Given the description of an element on the screen output the (x, y) to click on. 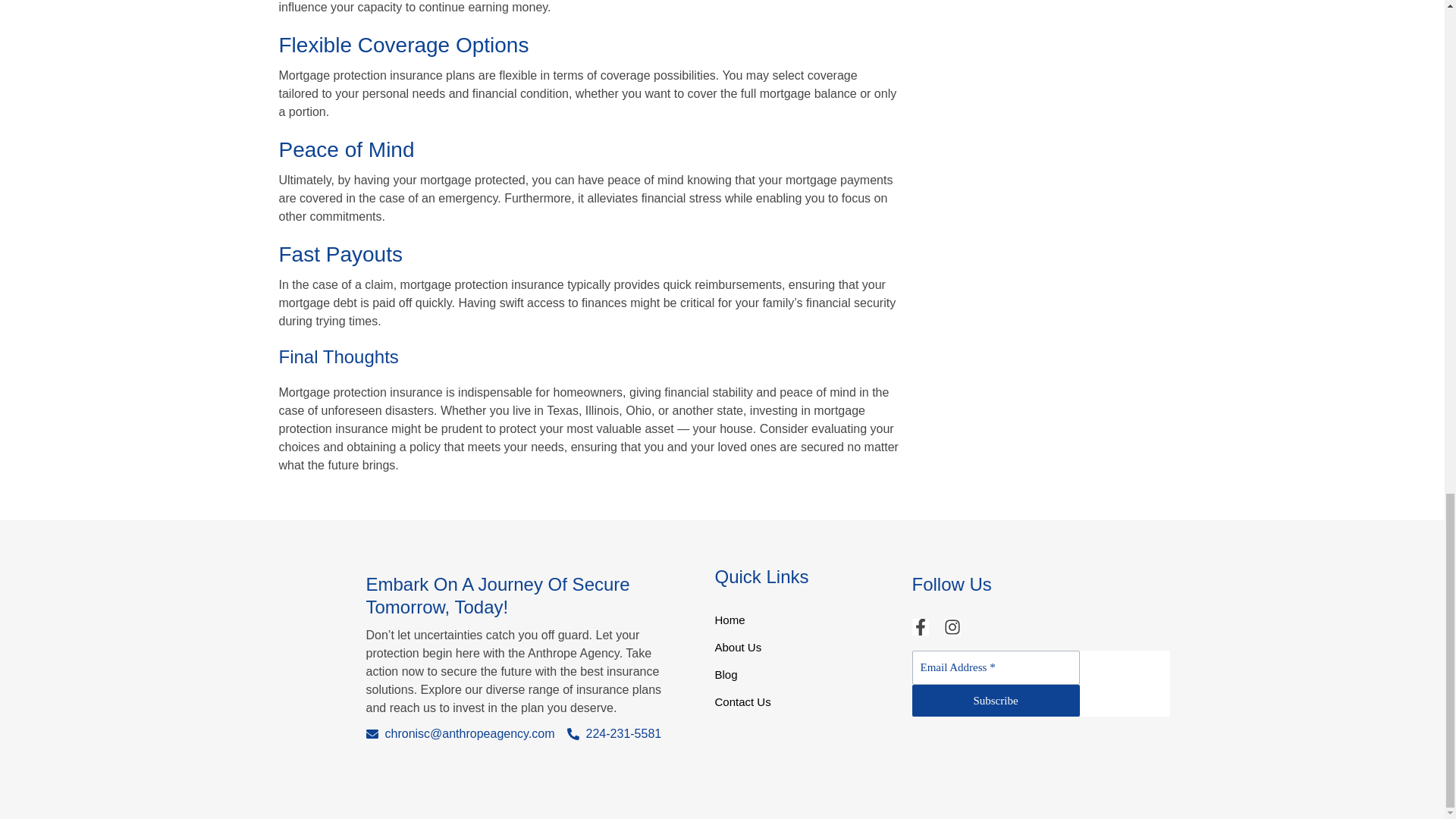
Email Address (994, 667)
Home (805, 624)
Blog (805, 678)
224-231-5581 (614, 733)
Subscribe (994, 699)
About Us (805, 651)
